Given the description of an element on the screen output the (x, y) to click on. 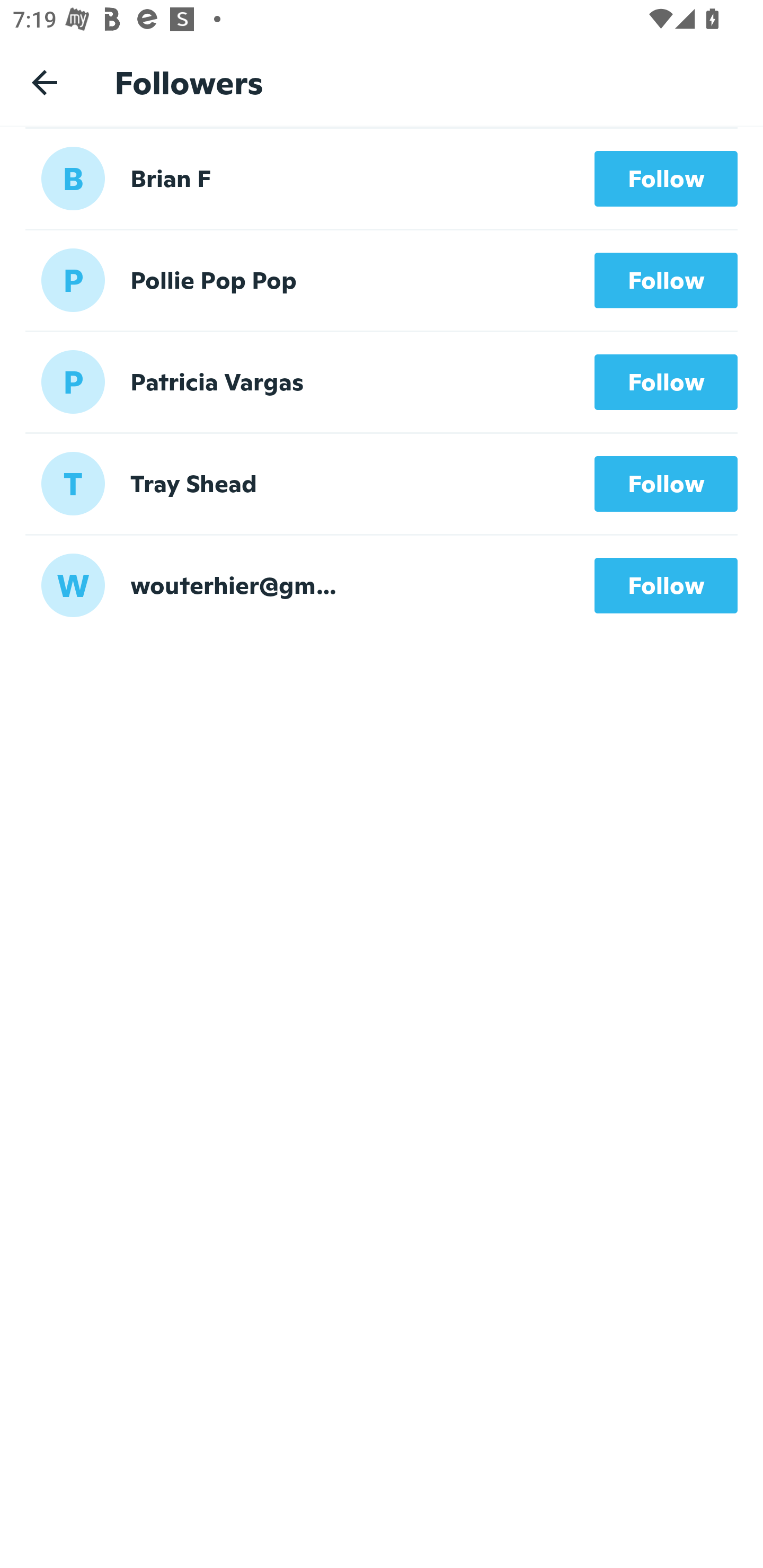
Navigate up (44, 82)
B Brian F Follow (381, 177)
Follow (665, 178)
P Pollie Pop Pop Follow (381, 279)
Follow (665, 280)
P Patricia Vargas Follow (381, 381)
Follow (665, 381)
T Tray Shead Follow (381, 483)
Follow (665, 483)
W wouterhier@gmail.com wouterhier@gmail.com Follow (381, 584)
Follow (665, 585)
